Given the description of an element on the screen output the (x, y) to click on. 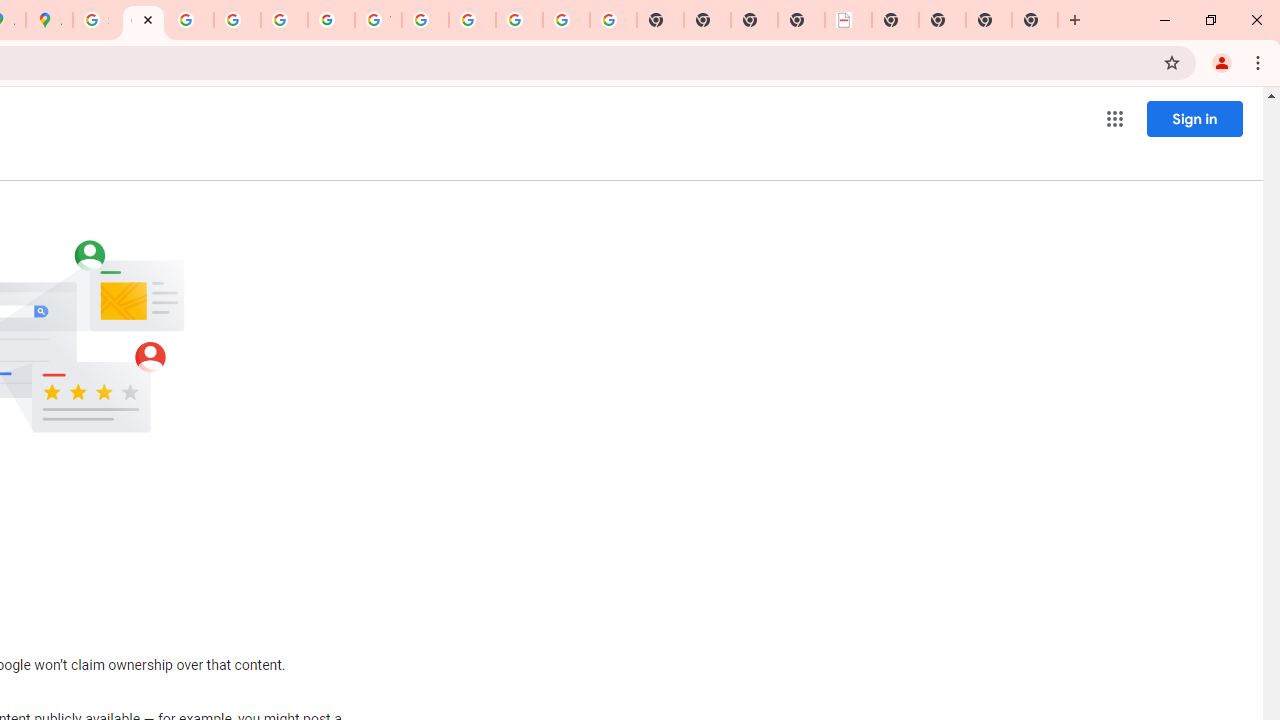
New Tab (1035, 20)
Privacy Help Center - Policies Help (189, 20)
YouTube (377, 20)
Privacy Help Center - Policies Help (237, 20)
